Given the description of an element on the screen output the (x, y) to click on. 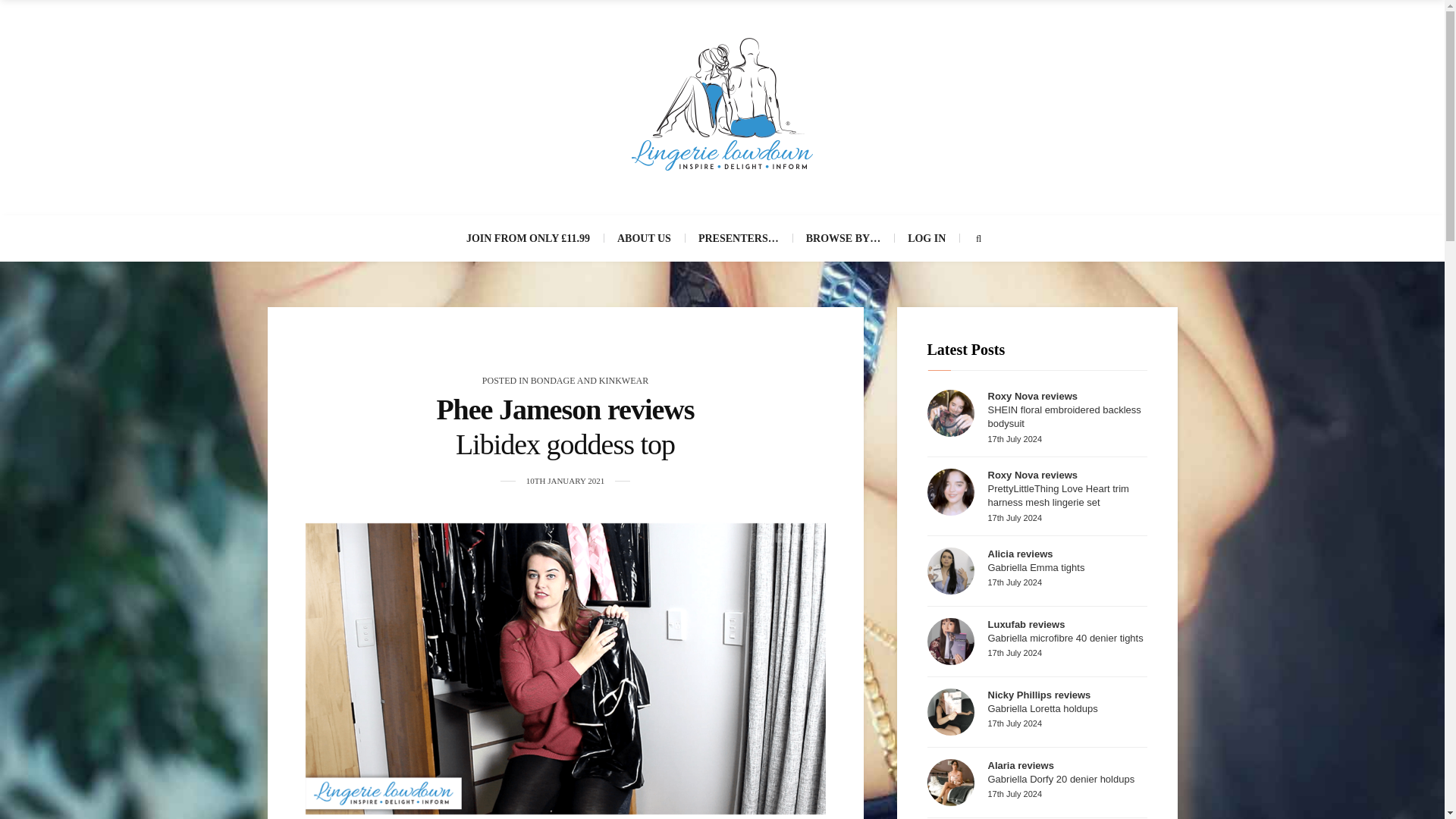
ABOUT US (644, 238)
LOG IN (926, 238)
